Given the description of an element on the screen output the (x, y) to click on. 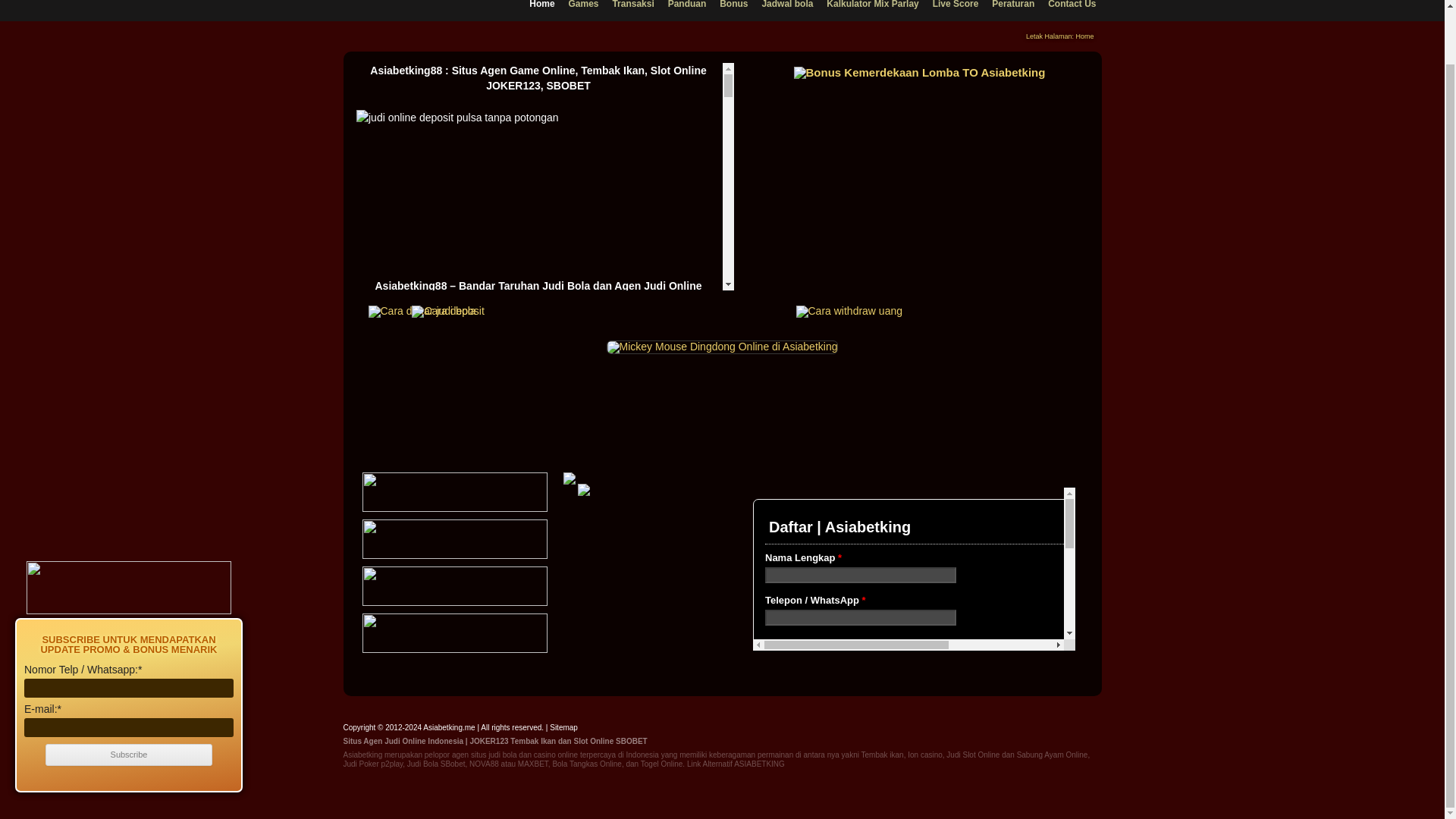
Mickey Mouse 88Tangkas (722, 346)
Home (541, 10)
Games (583, 10)
Subscribe (128, 696)
